Given the description of an element on the screen output the (x, y) to click on. 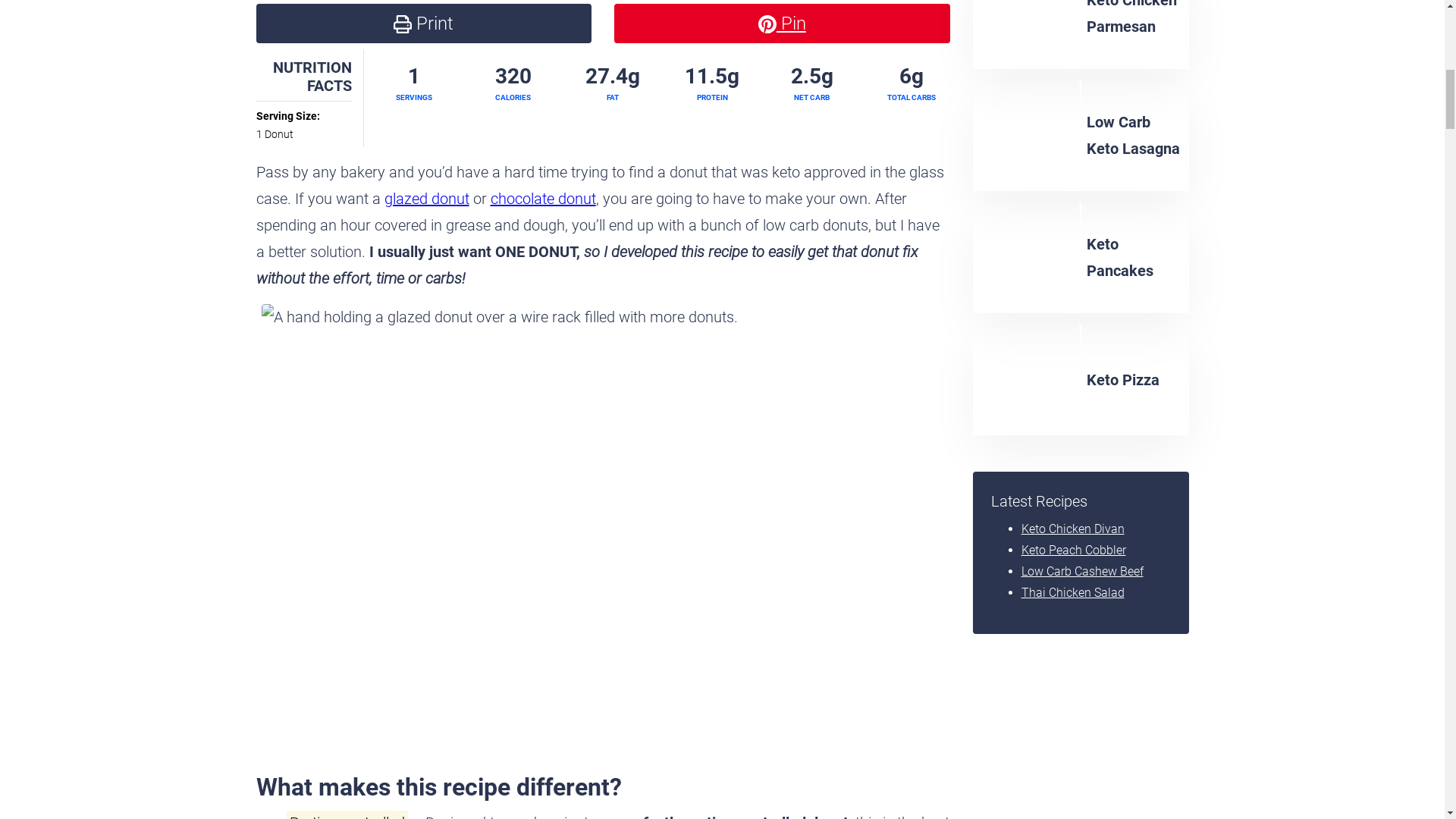
chocolate donut (542, 198)
Print (424, 23)
glazed donut (426, 198)
Pin (782, 23)
